Given the description of an element on the screen output the (x, y) to click on. 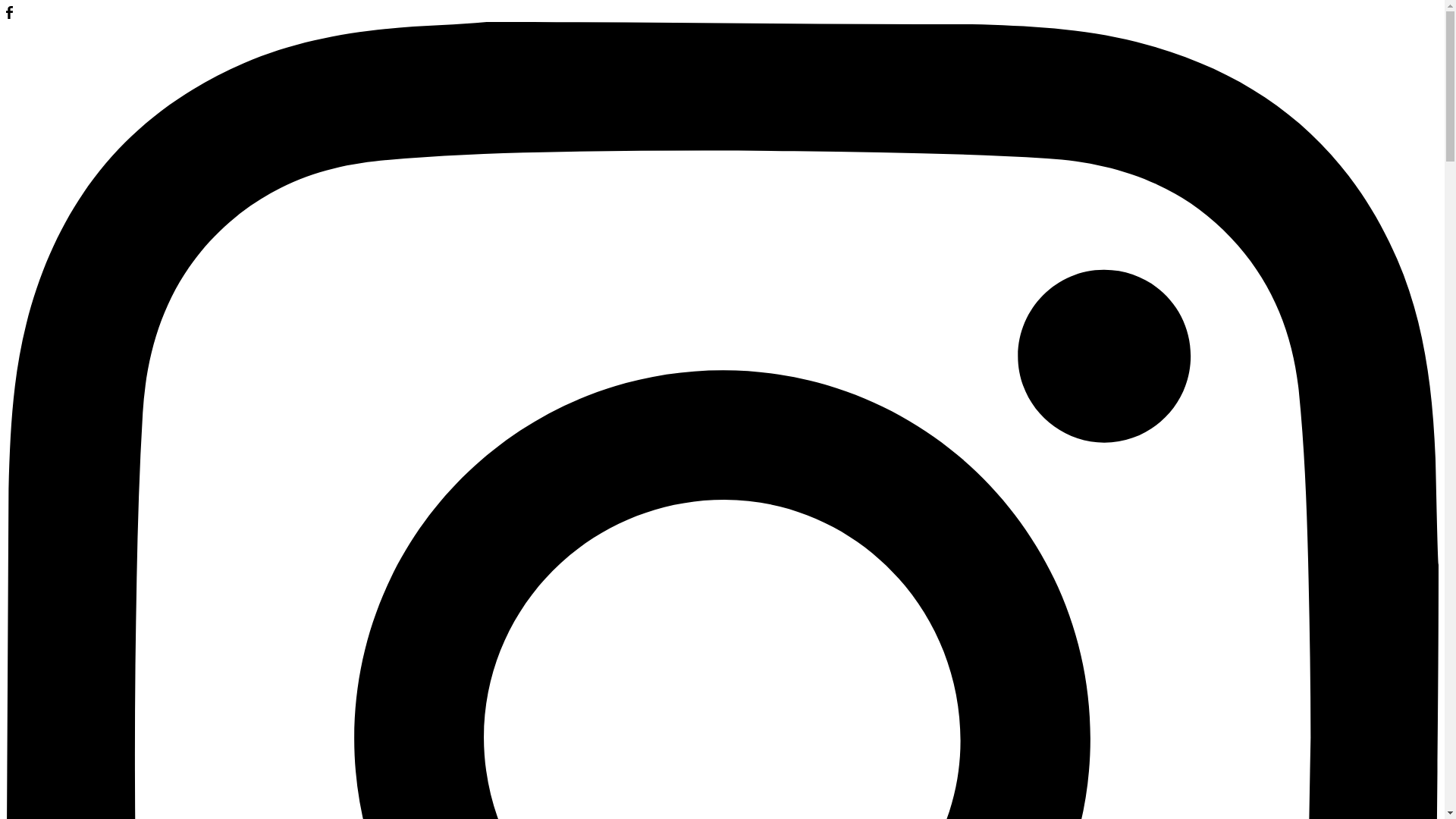
A link to this website's Facebook. Element type: hover (9, 14)
